Given the description of an element on the screen output the (x, y) to click on. 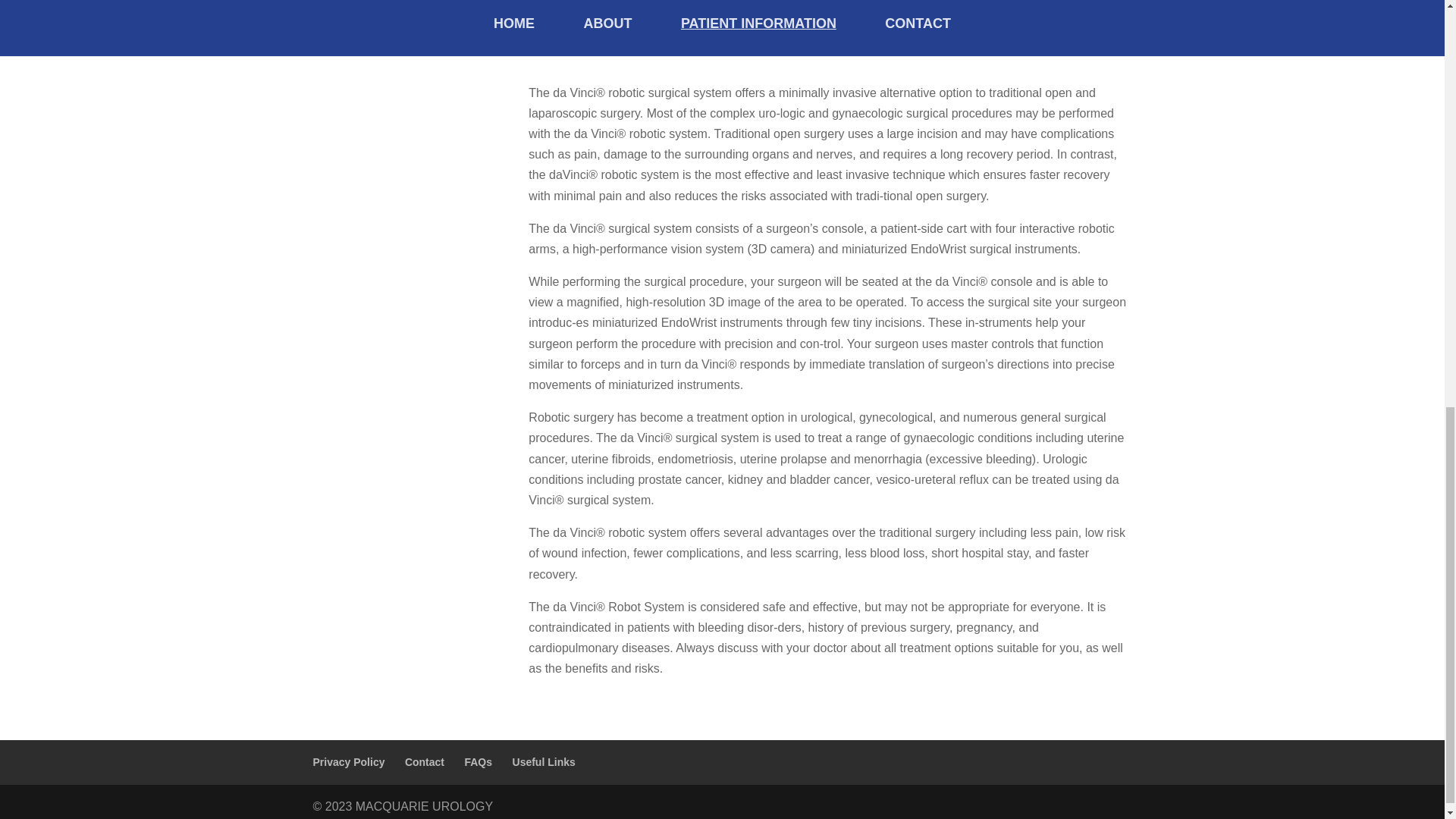
Privacy Policy (348, 761)
FAQs (478, 761)
Contact (424, 761)
da Vinci Prostatectomy- Urology Associates of Denver (829, 15)
Useful Links (543, 761)
